Given the description of an element on the screen output the (x, y) to click on. 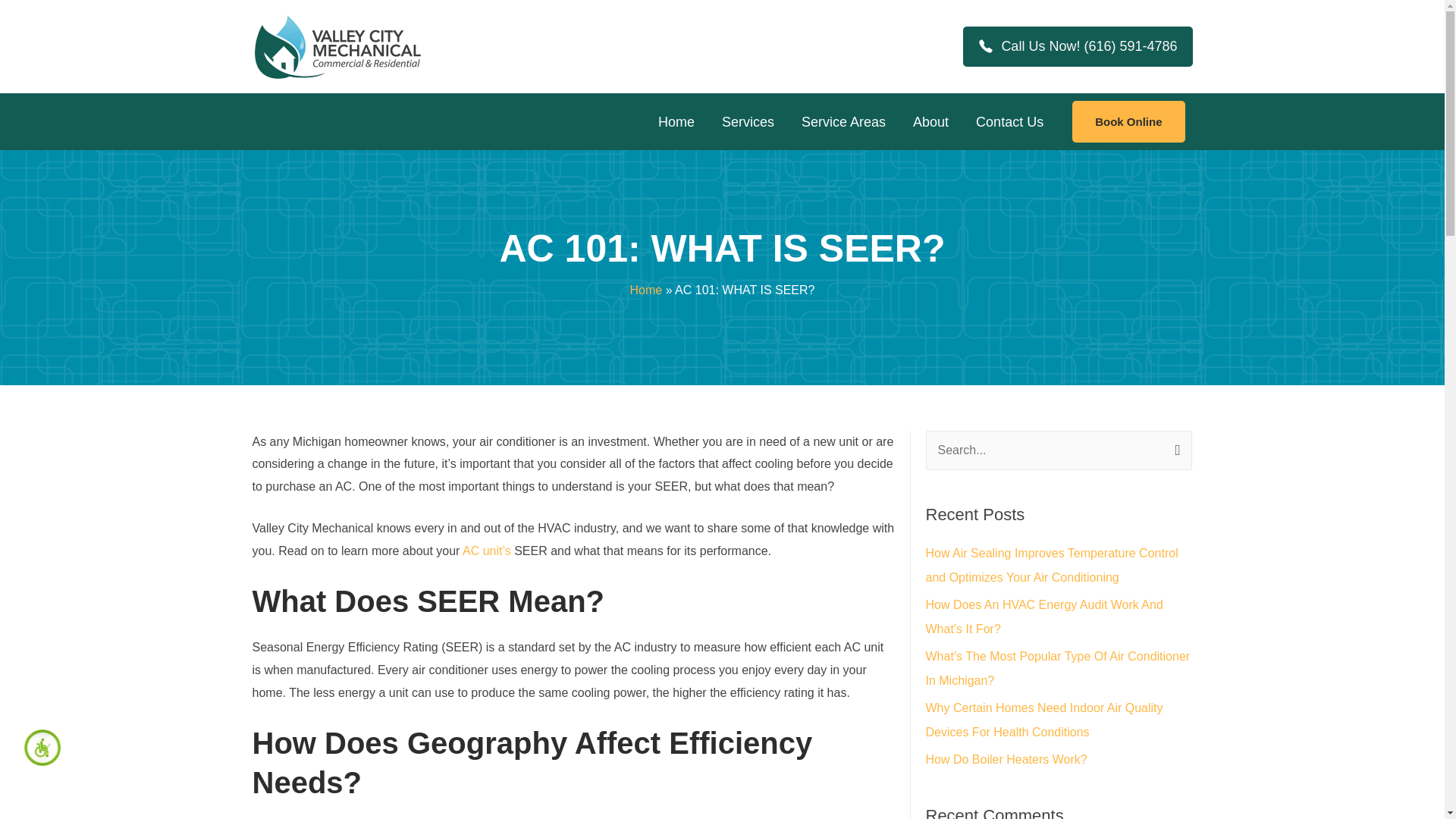
Service Areas (843, 122)
Search (1174, 446)
Home (676, 122)
Services (747, 122)
Search (1174, 446)
Accessibility Helper sidebar (42, 747)
